Given the description of an element on the screen output the (x, y) to click on. 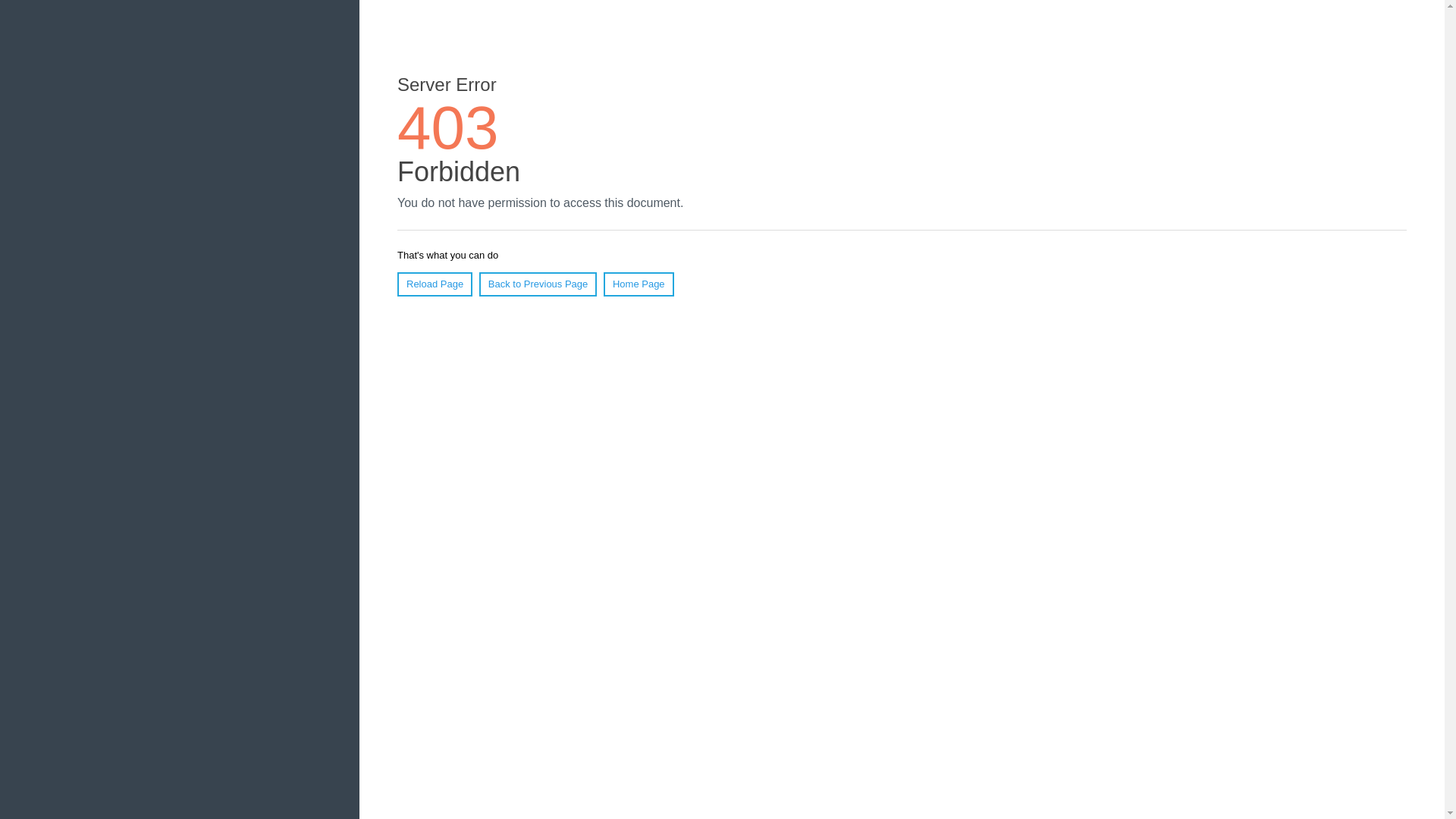
Reload Page (434, 283)
Home Page (639, 283)
Back to Previous Page (537, 283)
